Given the description of an element on the screen output the (x, y) to click on. 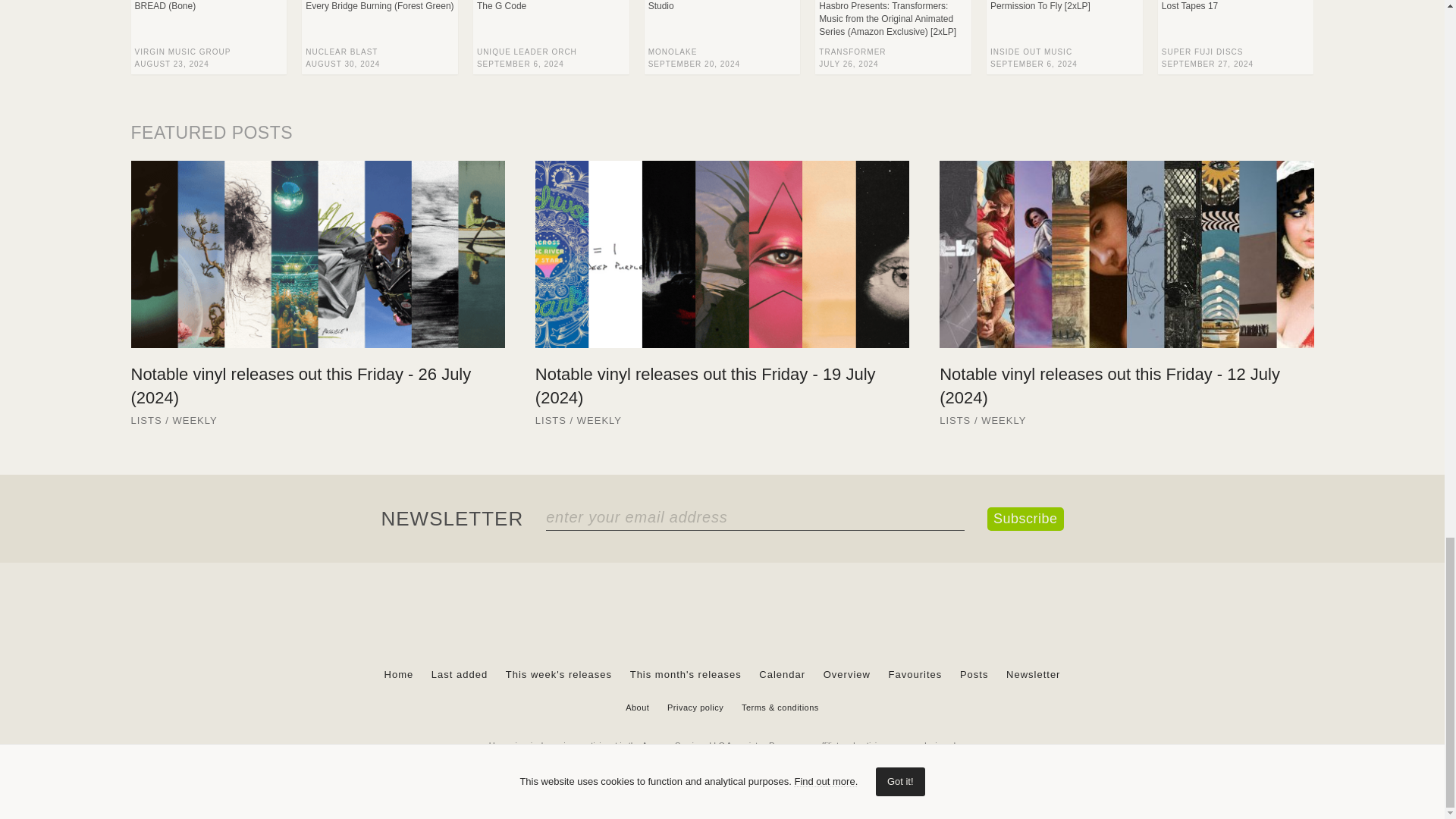
Subscribe (1025, 518)
